Given the description of an element on the screen output the (x, y) to click on. 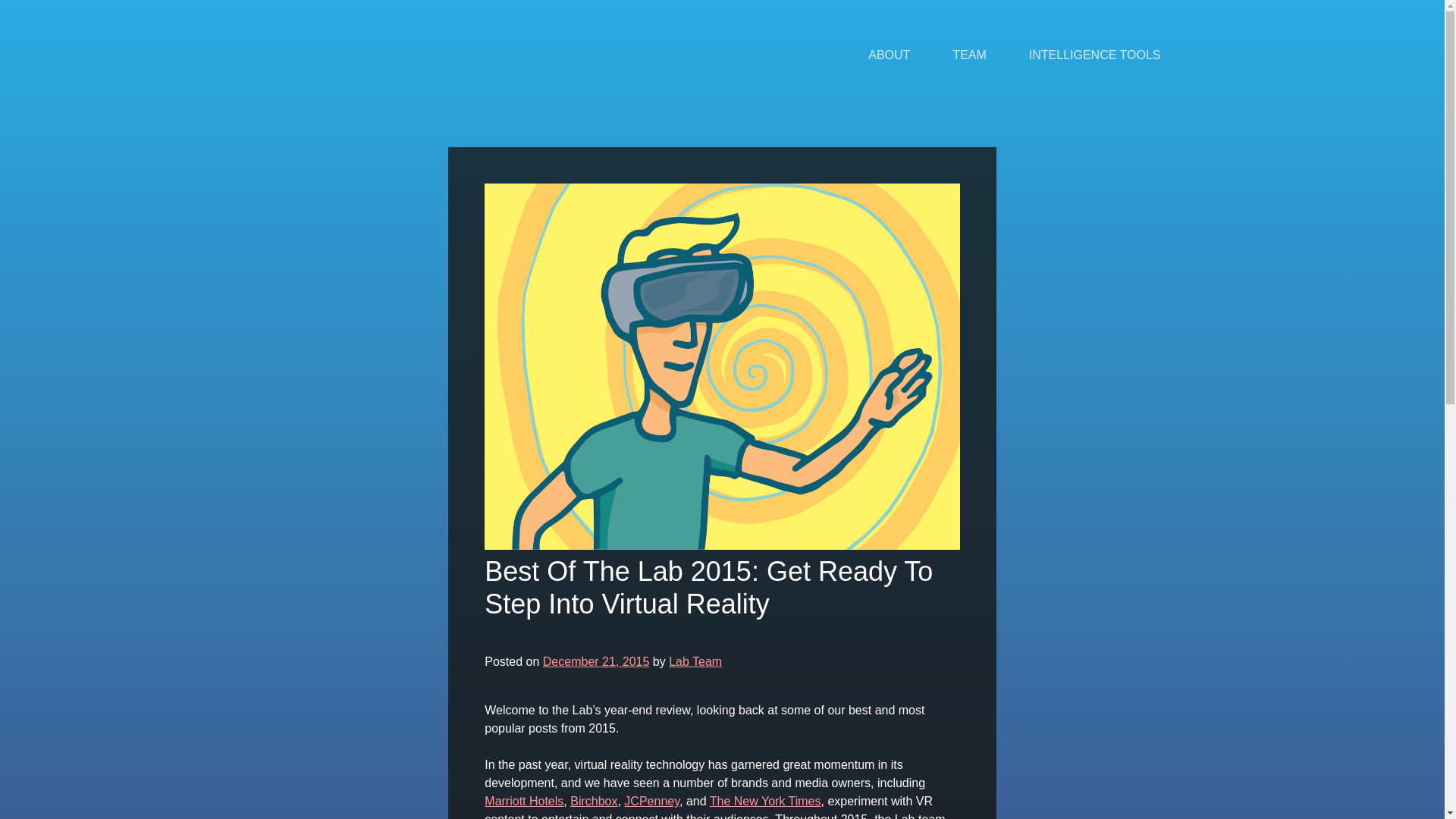
IPG Media Lab (340, 55)
December 21, 2015 (596, 661)
TEAM (969, 55)
Birchbox (593, 800)
JCPenney (651, 800)
Marriott Hotels (523, 800)
Lab Team (695, 661)
INTELLIGENCE TOOLS (1094, 55)
The New York Times (765, 800)
